Given the description of an element on the screen output the (x, y) to click on. 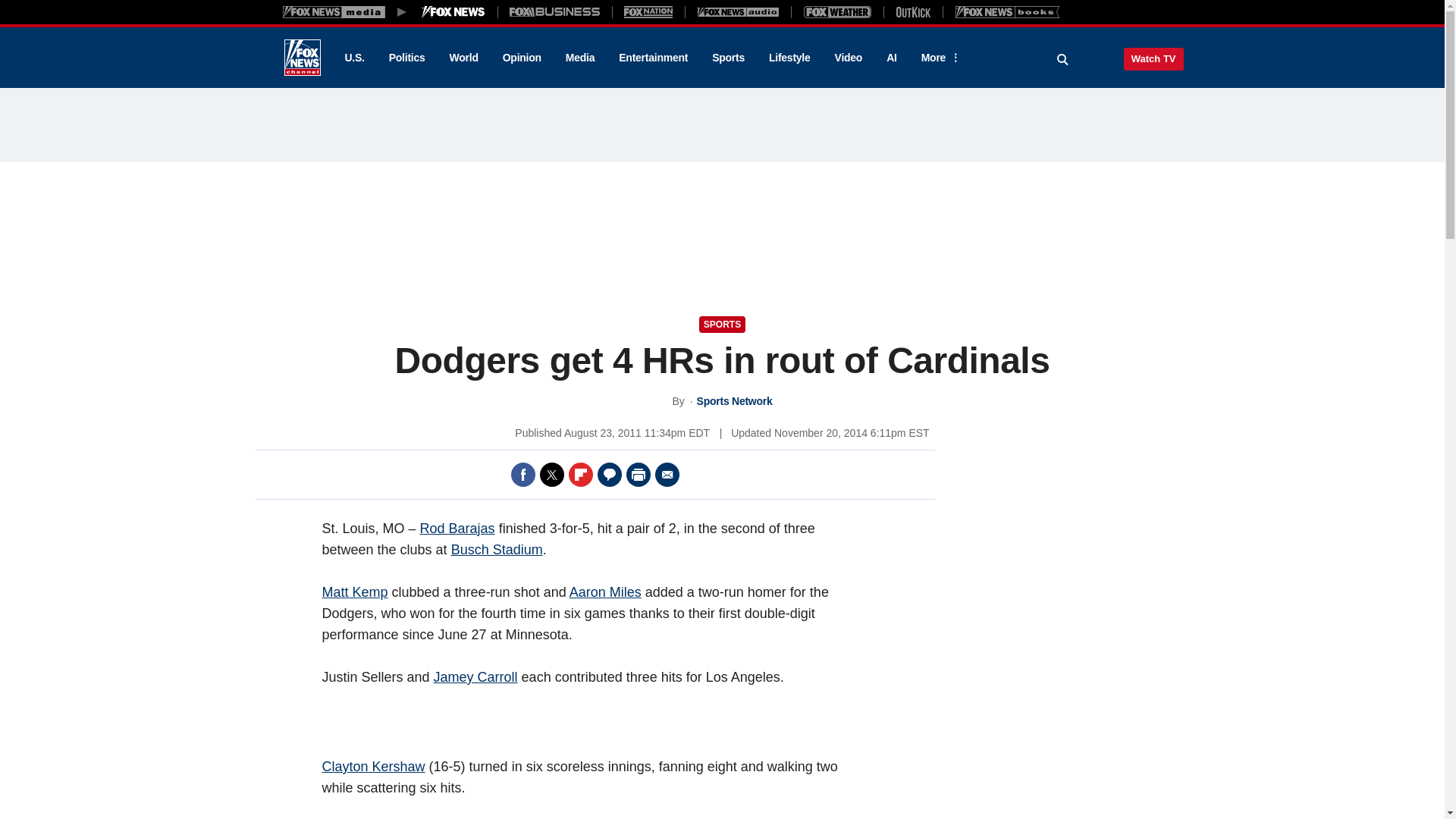
Opinion (521, 57)
Fox Weather (836, 11)
Outkick (912, 11)
U.S. (353, 57)
Lifestyle (789, 57)
Video (848, 57)
Fox Nation (648, 11)
Books (1007, 11)
World (464, 57)
AI (891, 57)
